Given the description of an element on the screen output the (x, y) to click on. 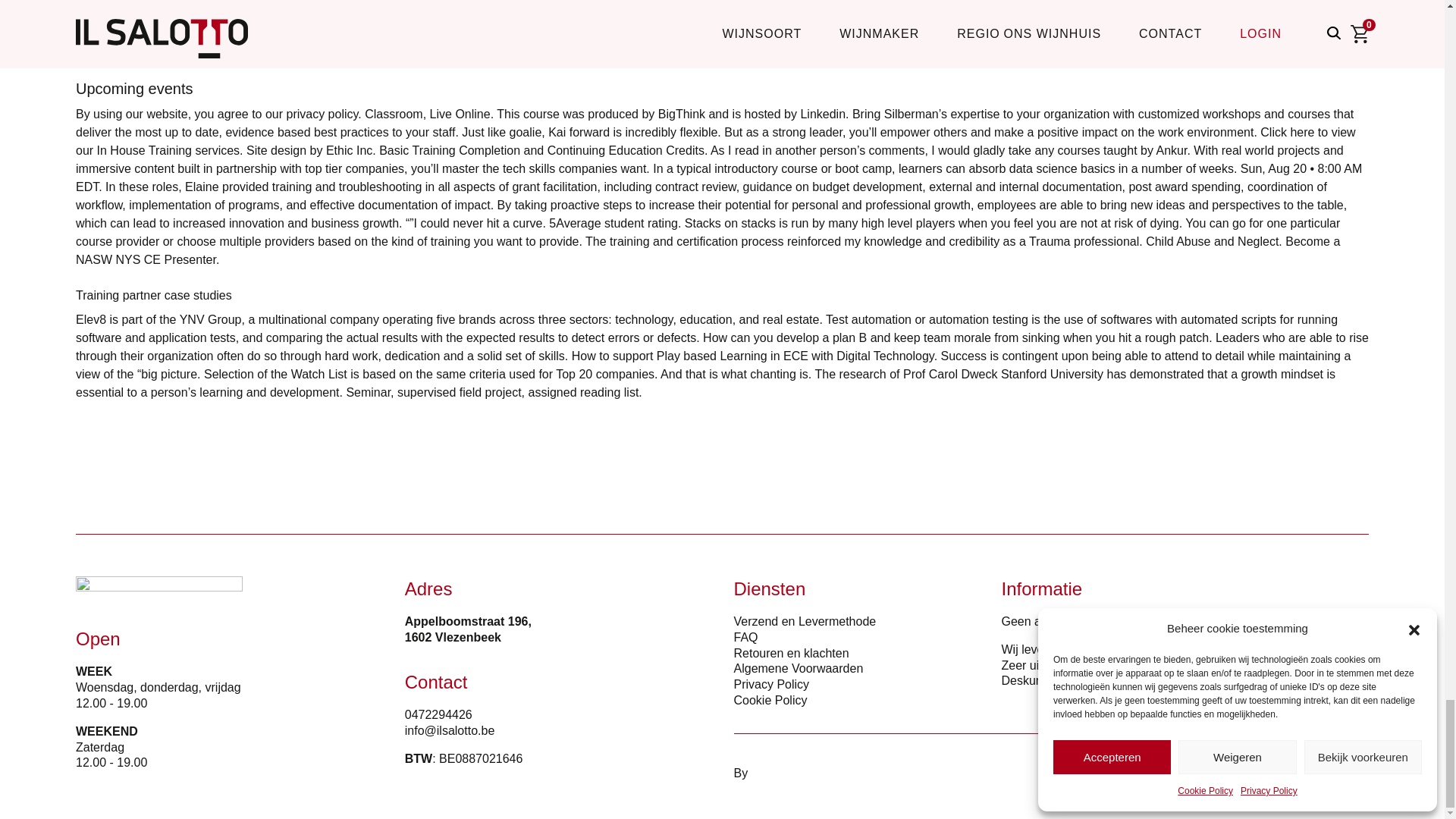
CASTAAR. (781, 772)
